Given the description of an element on the screen output the (x, y) to click on. 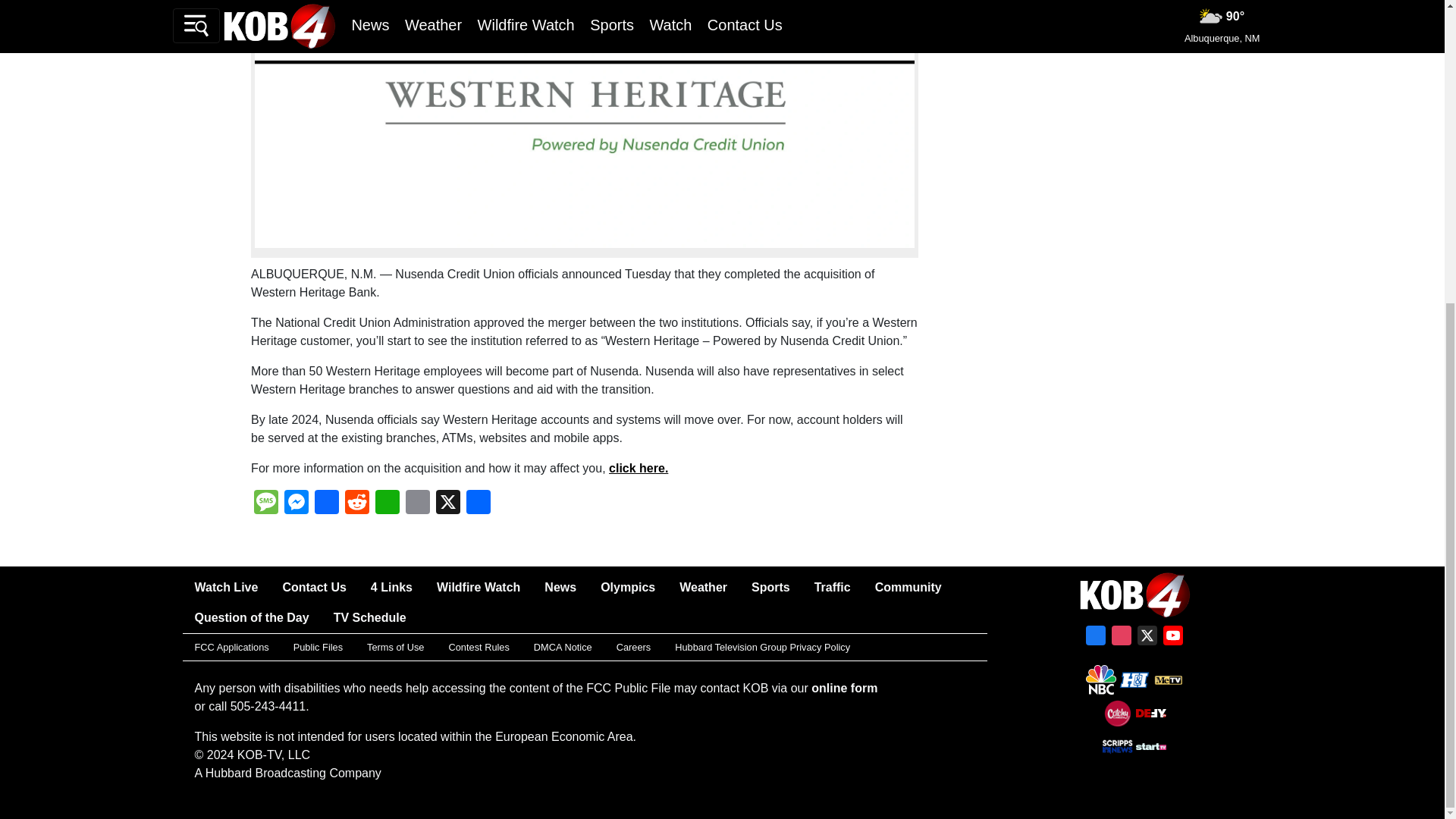
Facebook (1095, 638)
Instagram (1121, 638)
X (1147, 638)
Email (417, 503)
Messenger (296, 503)
Reddit (357, 503)
Message (265, 503)
WhatsApp (387, 503)
X (447, 503)
YouTube Channel (1173, 638)
Facebook (326, 503)
